Given the description of an element on the screen output the (x, y) to click on. 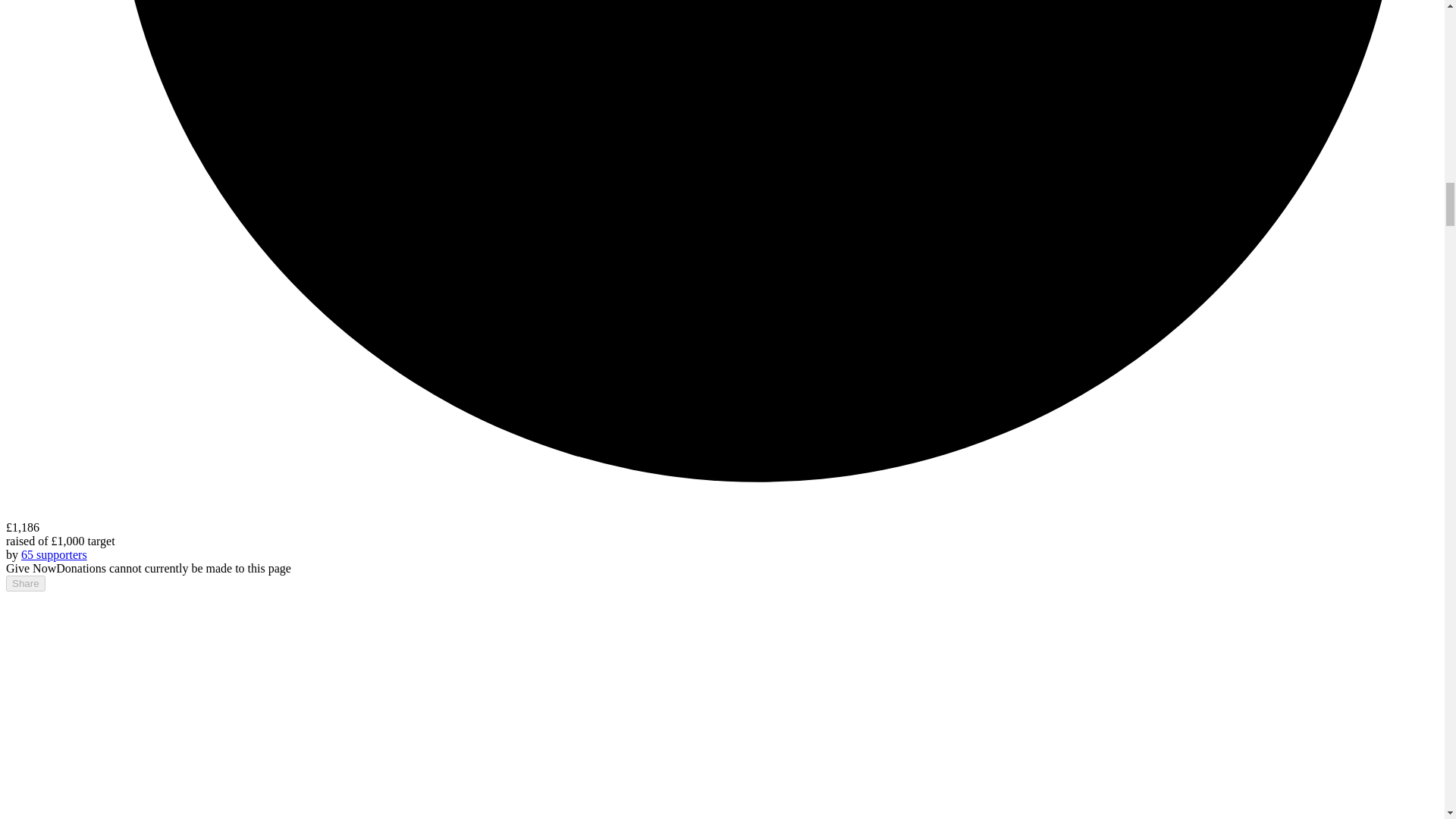
65 supporters (54, 554)
Share (25, 583)
